Given the description of an element on the screen output the (x, y) to click on. 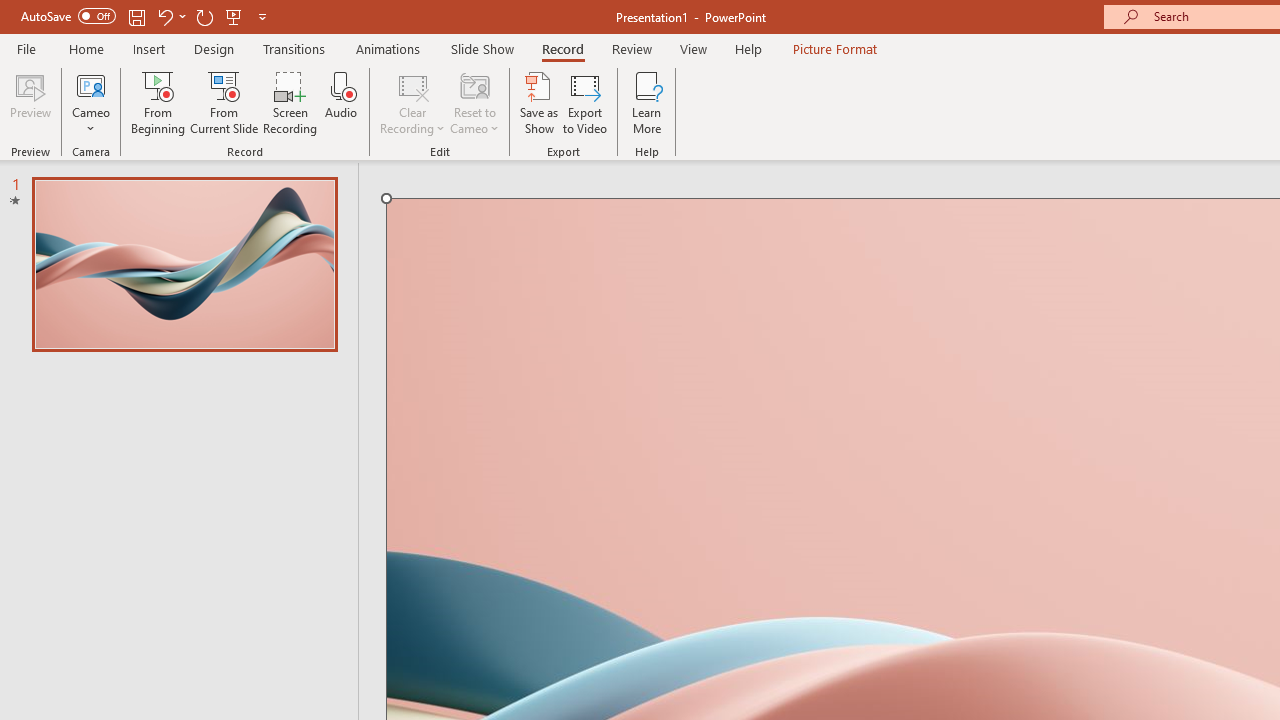
Cameo (91, 102)
Cameo (91, 84)
Undo (170, 15)
Help (748, 48)
Export to Video (585, 102)
Home (86, 48)
Preview (30, 102)
